Given the description of an element on the screen output the (x, y) to click on. 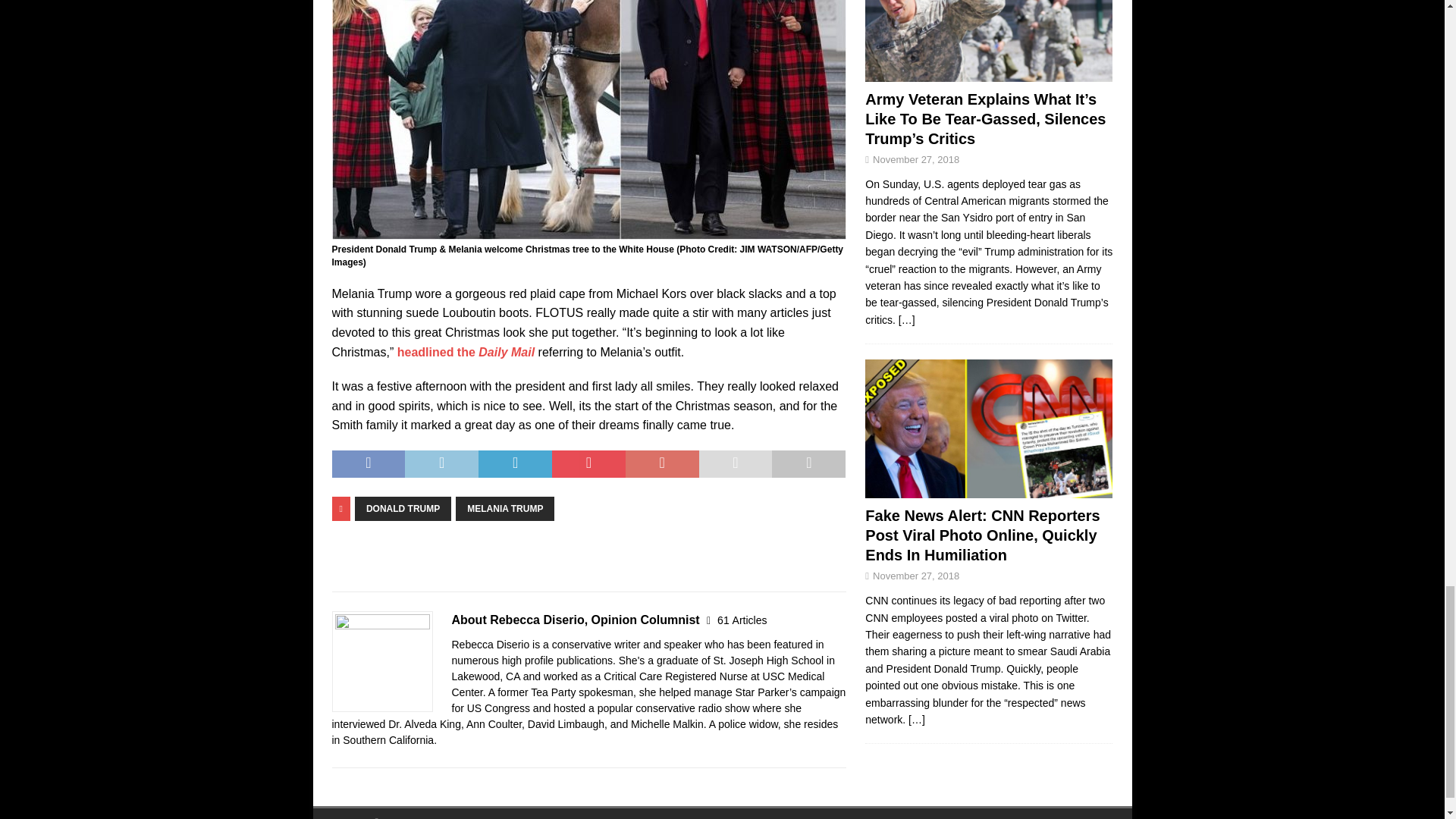
More articles written by Rebecca Diserio, Opinion Columnist' (742, 620)
